Given the description of an element on the screen output the (x, y) to click on. 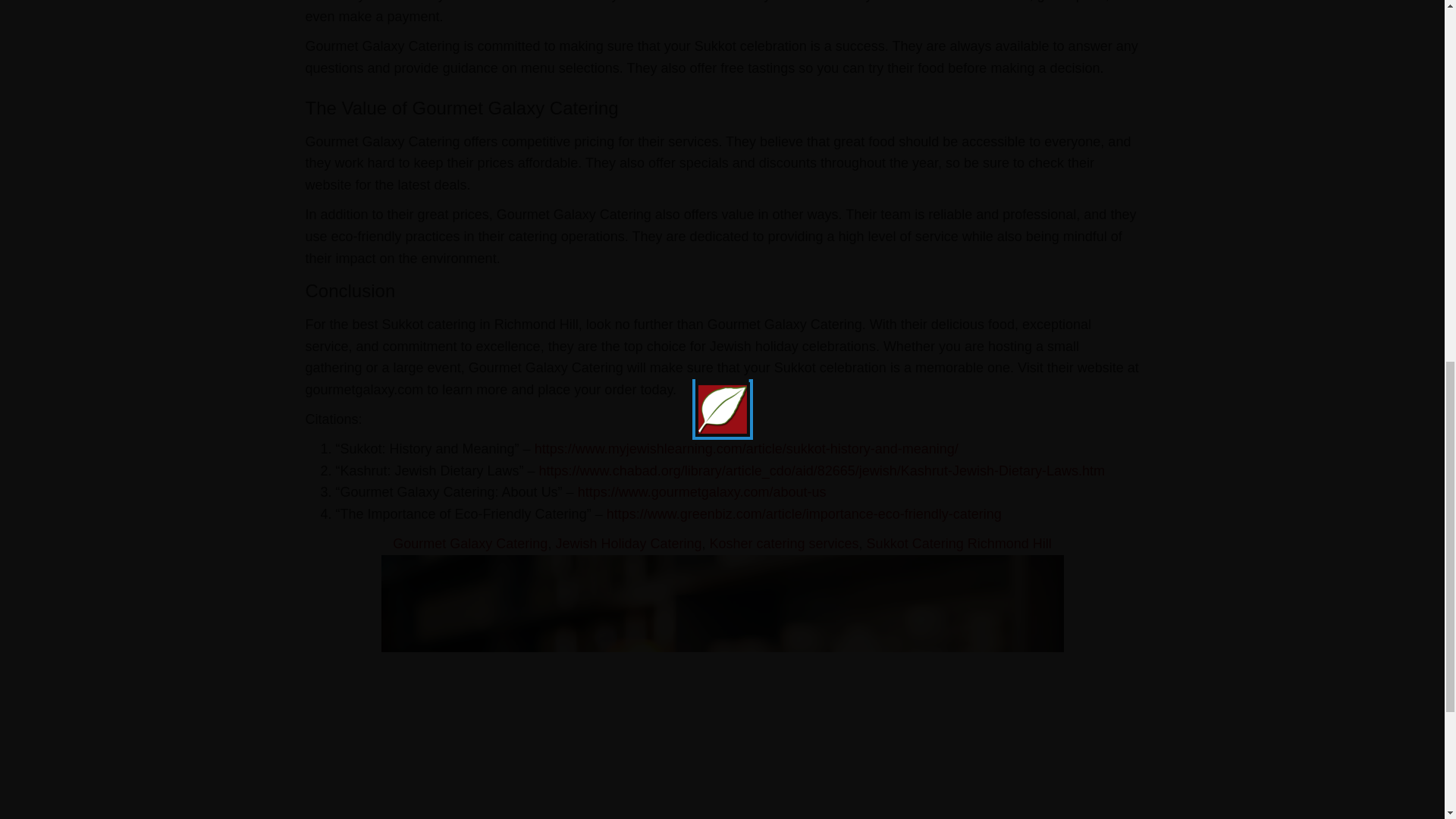
Jewish Holiday Catering (627, 543)
Sukkot Catering Richmond Hill (958, 543)
Gourmet Galaxy Catering (470, 543)
Kosher catering services (784, 543)
